Given the description of an element on the screen output the (x, y) to click on. 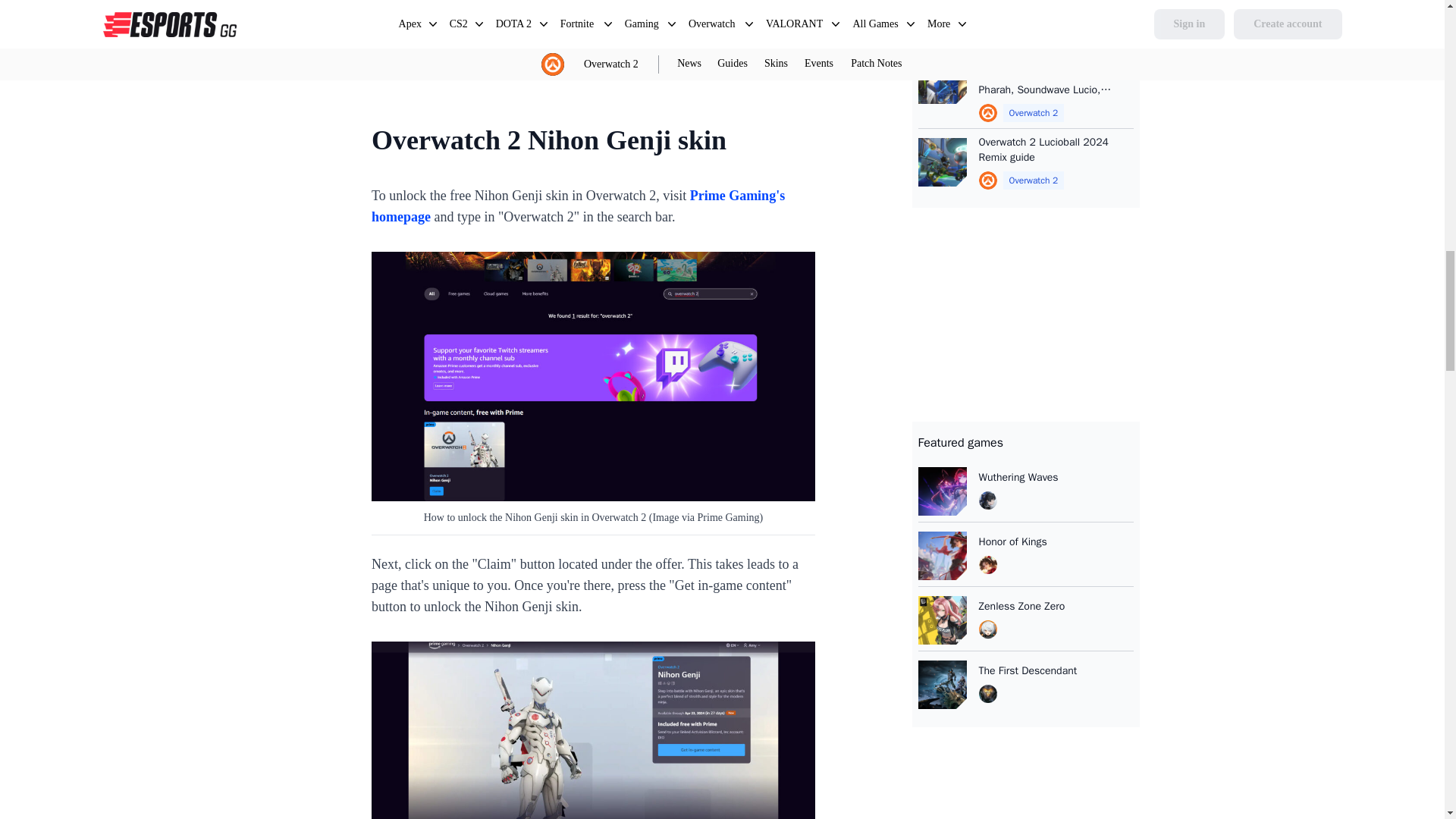
Prime Gaming's homepage (577, 206)
